Given the description of an element on the screen output the (x, y) to click on. 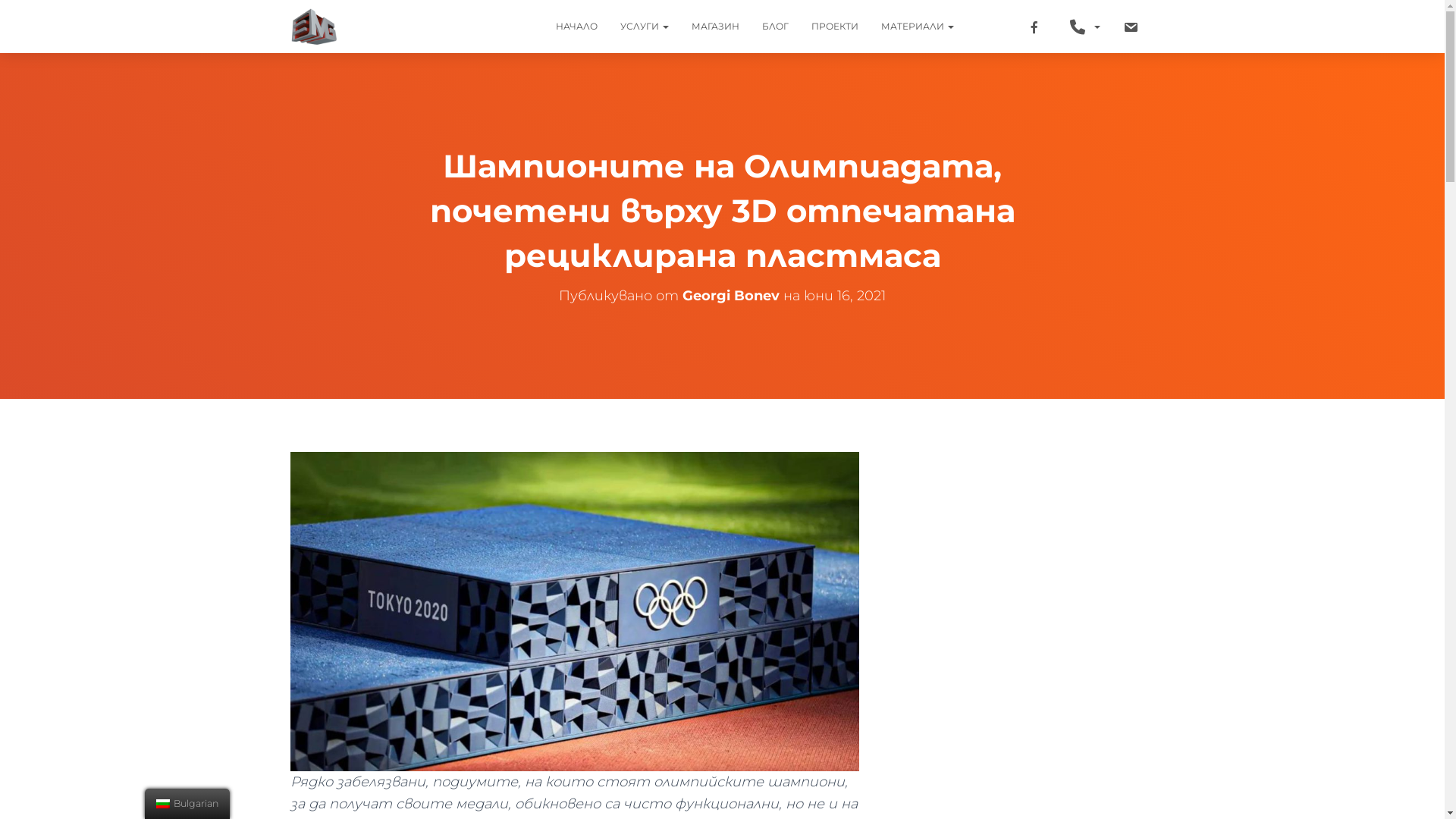
Georgi Bonev Element type: text (730, 295)
3MG Bonev Element type: hover (314, 26)
  Element type: text (1035, 26)
  Element type: text (1084, 26)
Bulgarian Element type: hover (162, 803)
  Element type: text (1002, 26)
  Element type: text (1132, 26)
  Element type: text (976, 26)
